Given the description of an element on the screen output the (x, y) to click on. 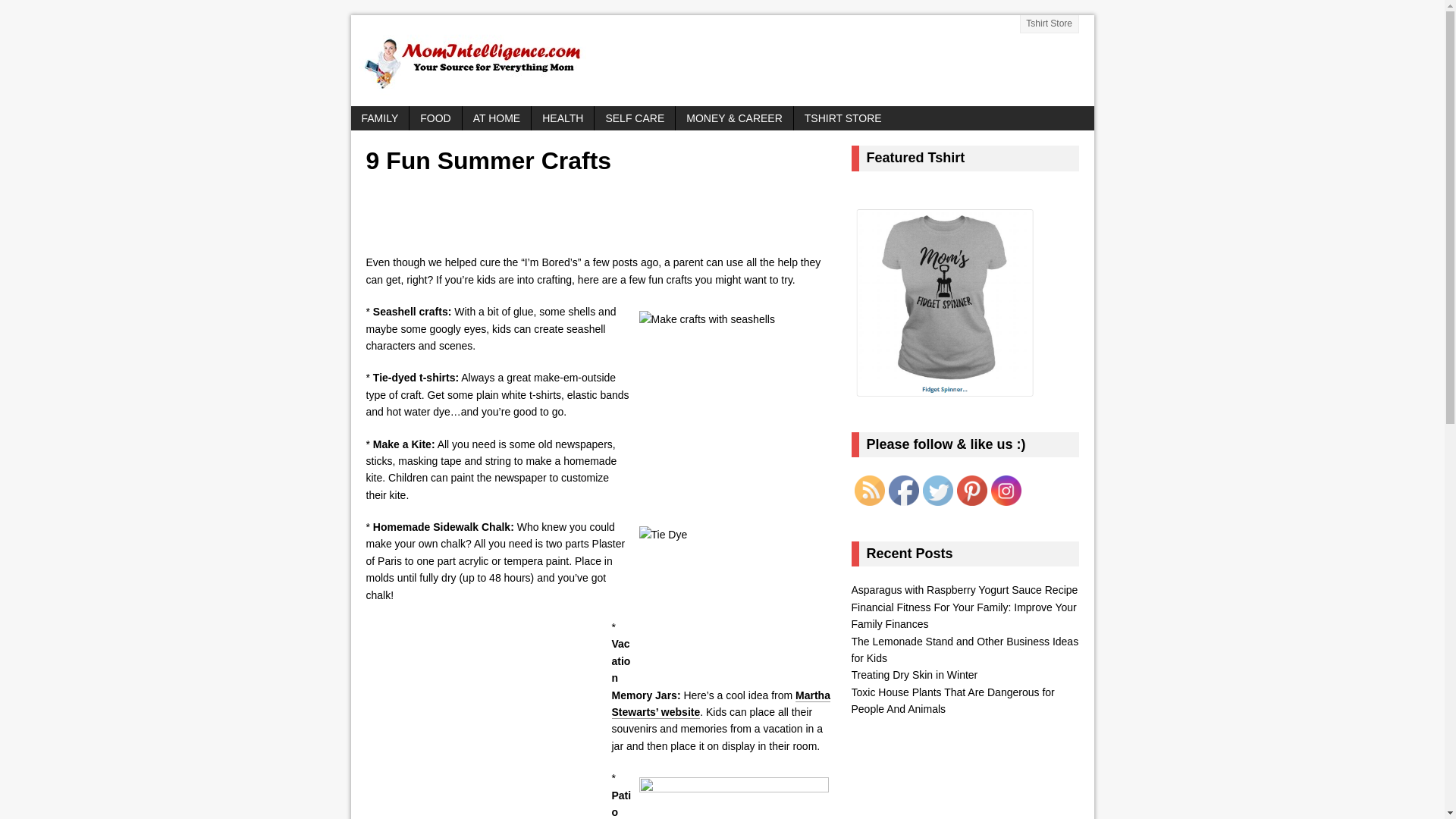
RSS (868, 490)
Tips, Recipes and Sanity for Moms (721, 60)
The Lemonade Stand and Other Business Ideas for Kids (964, 649)
Homemade chalk drawings (733, 798)
Toxic House Plants That Are Dangerous for People And Animals (952, 700)
Advertisement (551, 217)
Instagram (1005, 490)
TSHIRT STORE (842, 118)
SELF CARE (634, 118)
FOOD (435, 118)
FAMILY (379, 118)
HEALTH (562, 118)
Asparagus with Raspberry Yogurt Sauce Recipe (963, 589)
Facebook (903, 490)
